Given the description of an element on the screen output the (x, y) to click on. 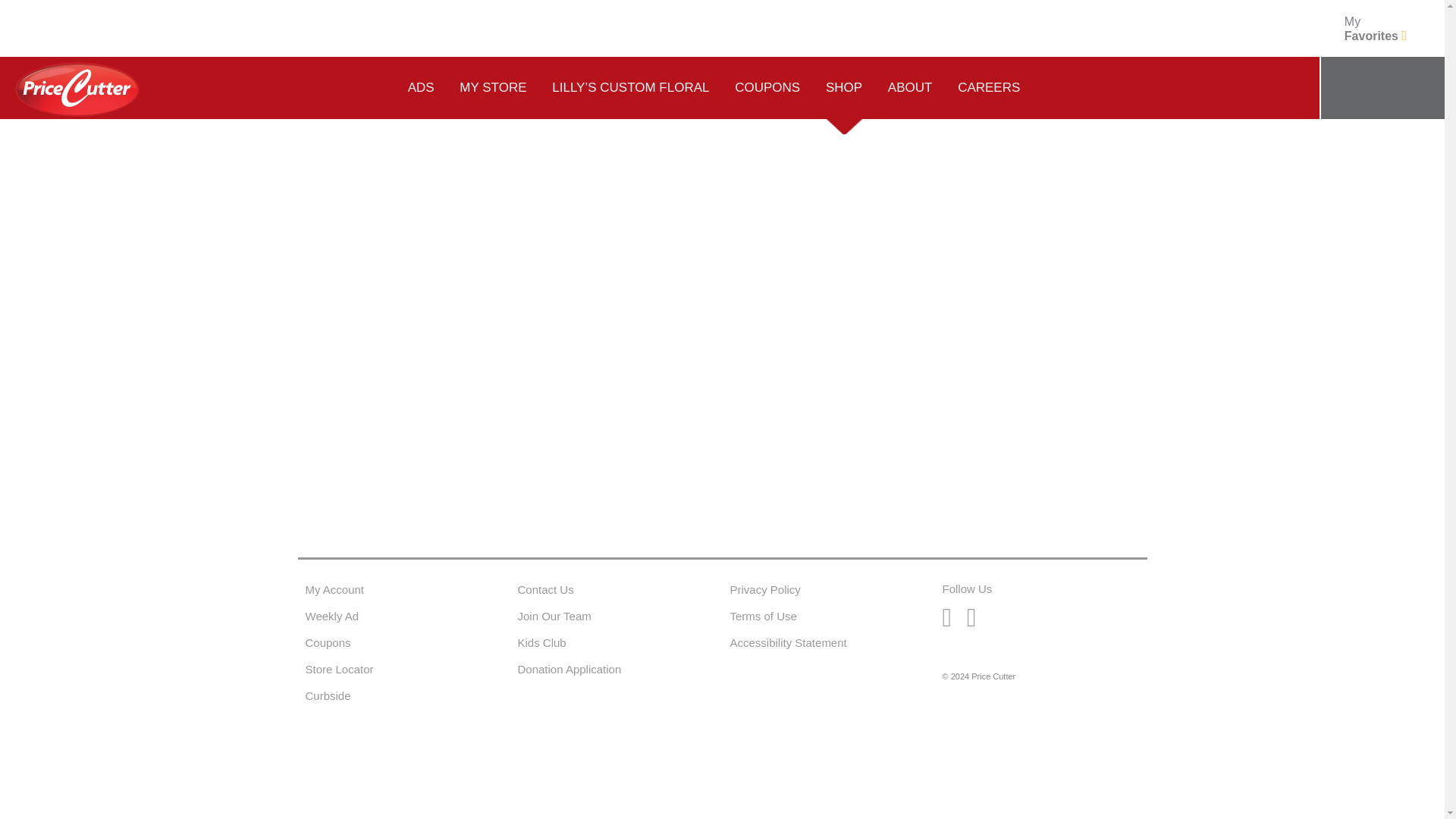
MY STORE (492, 86)
ABOUT (909, 86)
CAREERS (988, 86)
COUPONS (767, 86)
SHOP (1374, 28)
